Given the description of an element on the screen output the (x, y) to click on. 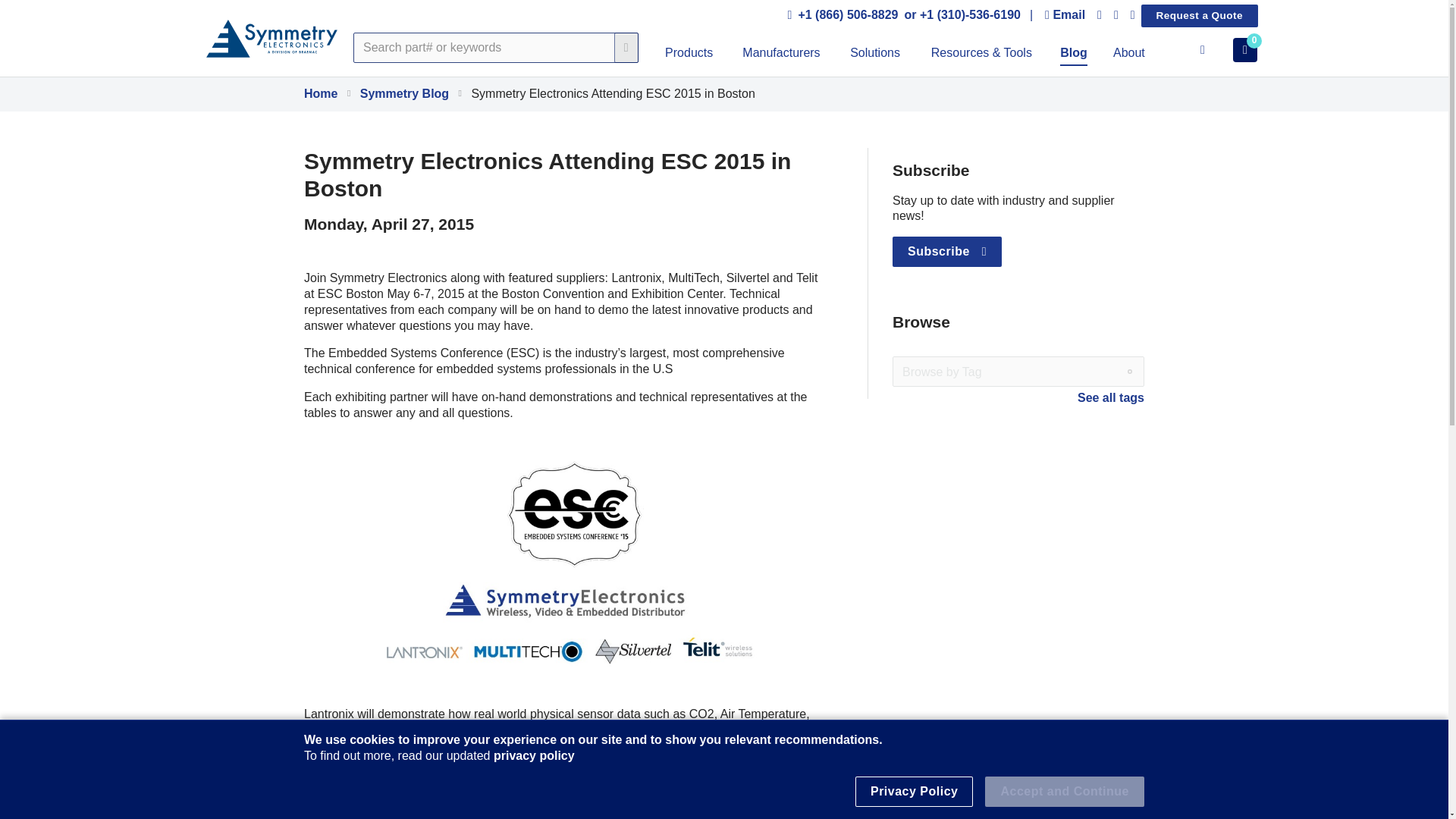
Email (1064, 15)
Email (1064, 15)
youtube (1132, 15)
linkedin (1099, 15)
facebook (1116, 15)
Request a Quote (1199, 15)
Products (688, 55)
